Given the description of an element on the screen output the (x, y) to click on. 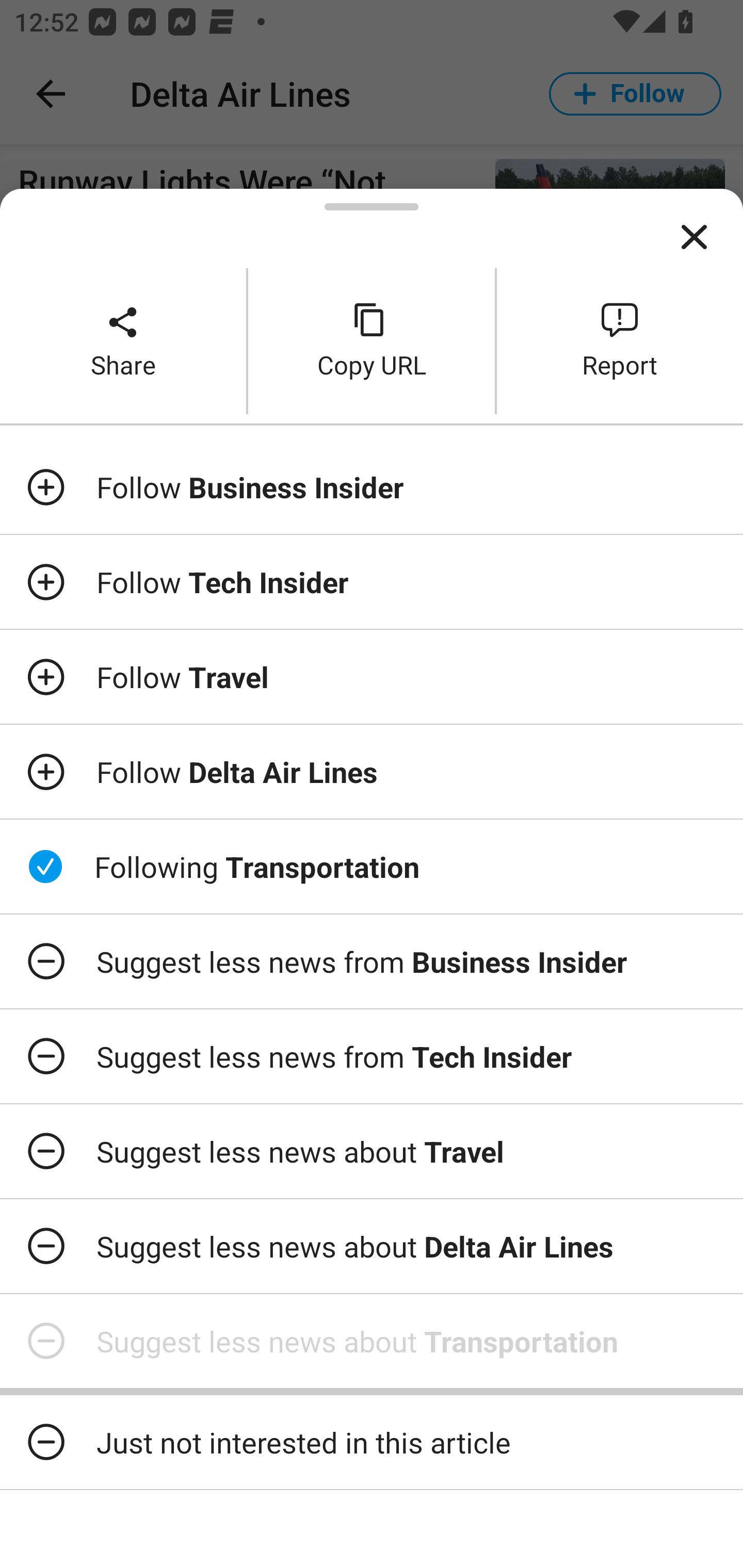
Close (694, 237)
Share (122, 340)
Copy URL (371, 340)
Report (620, 340)
Follow Business Insider (371, 486)
Follow Tech Insider (371, 581)
Follow Travel (371, 677)
Follow Delta Air Lines (371, 771)
Following Transportation (371, 867)
Suggest less news from Business Insider (371, 961)
Suggest less news from Tech Insider (371, 1056)
Suggest less news about Travel (371, 1150)
Suggest less news about Delta Air Lines (371, 1246)
Just not interested in this article (371, 1442)
